Given the description of an element on the screen output the (x, y) to click on. 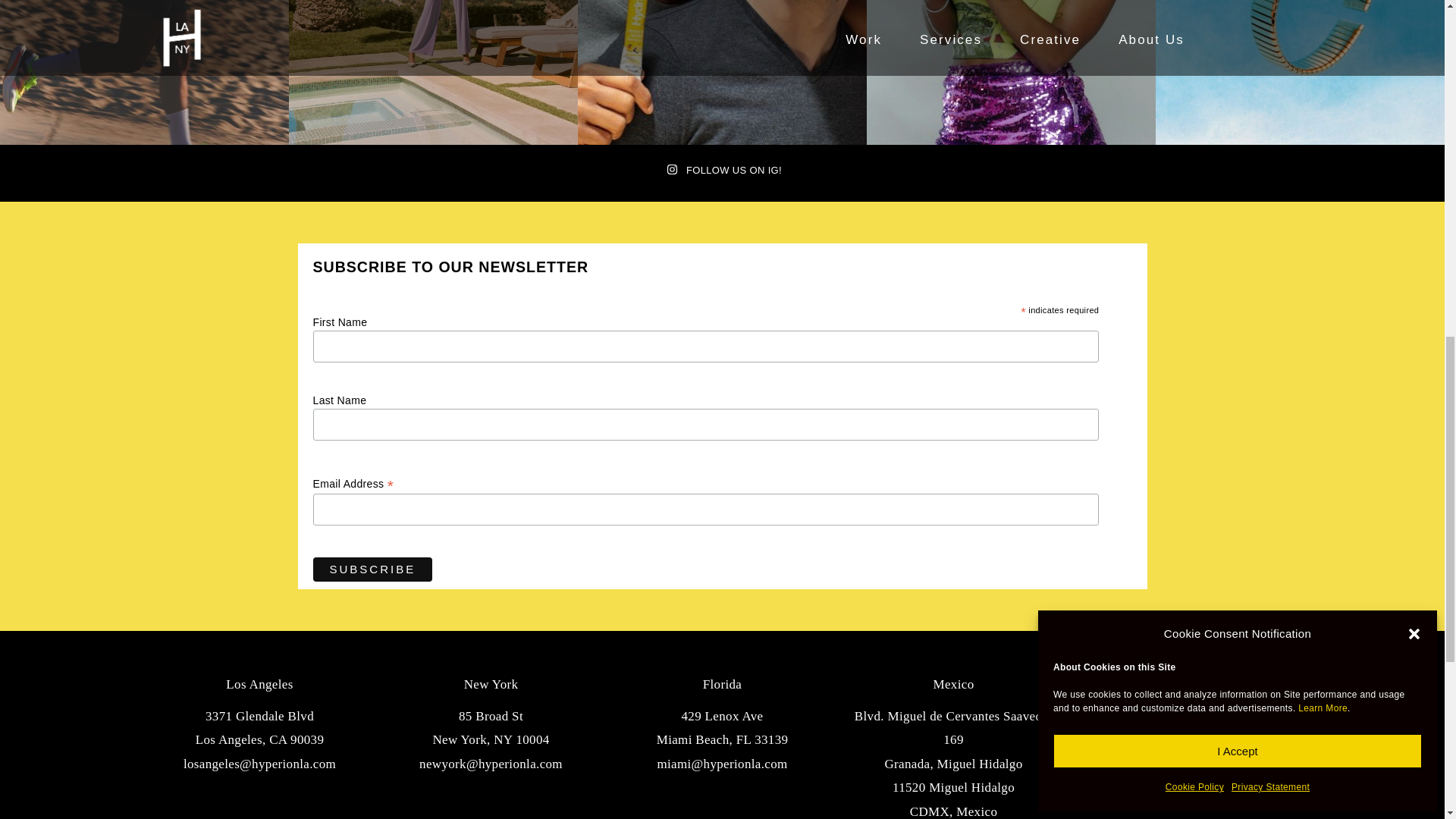
Subscribe (372, 569)
